Given the description of an element on the screen output the (x, y) to click on. 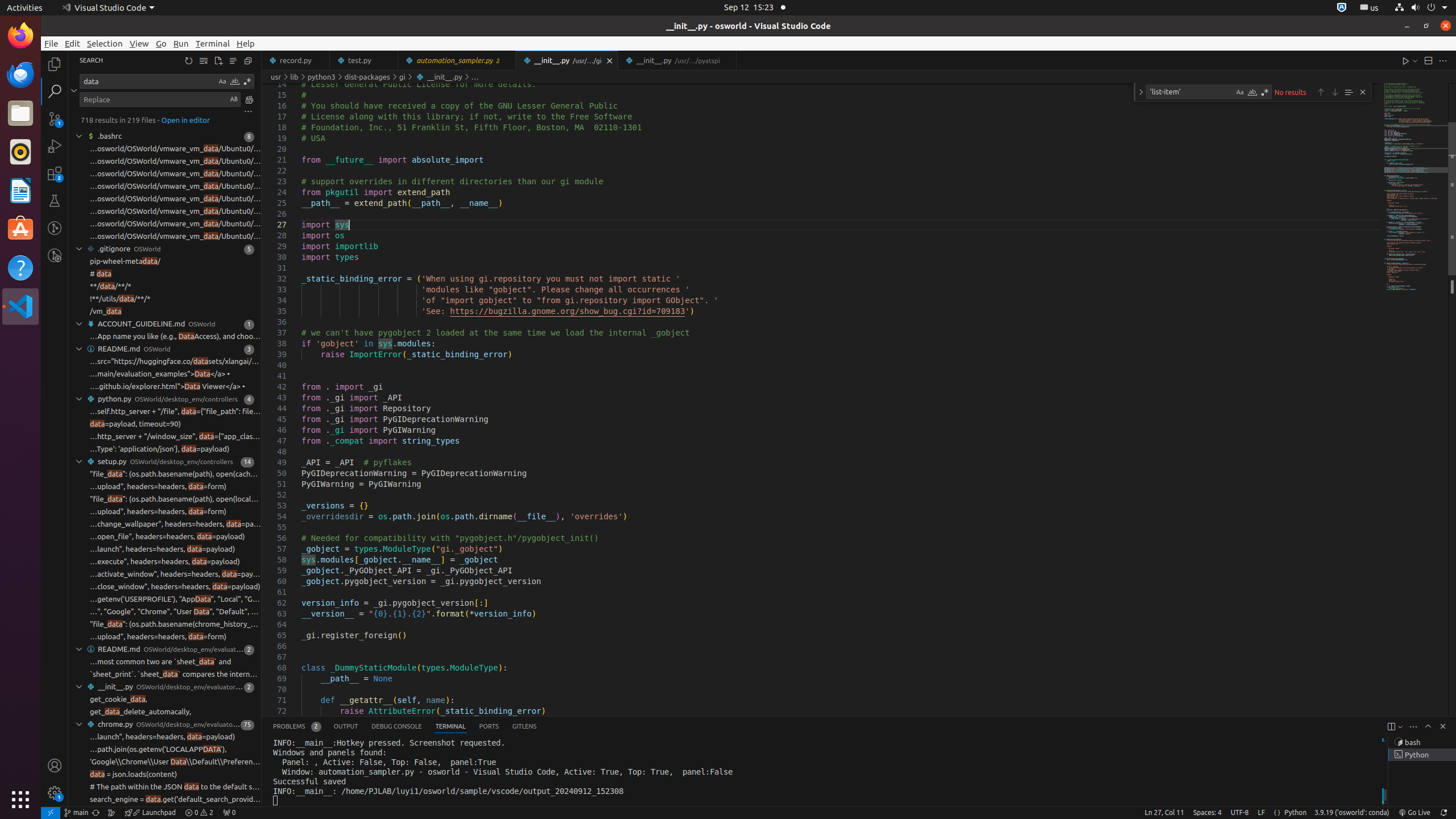
'/vm_data' at column 5 found data Element type: tree-item (164, 310)
OSWorld (Git) - Synchronize Changes Element type: push-button (95, 812)
' get_data_delete_automacally,' at column 9 found data Element type: tree-item (164, 711)
Testing Element type: page-tab (54, 200)
Explorer (Ctrl+Shift+E) Element type: page-tab (54, 63)
